Given the description of an element on the screen output the (x, y) to click on. 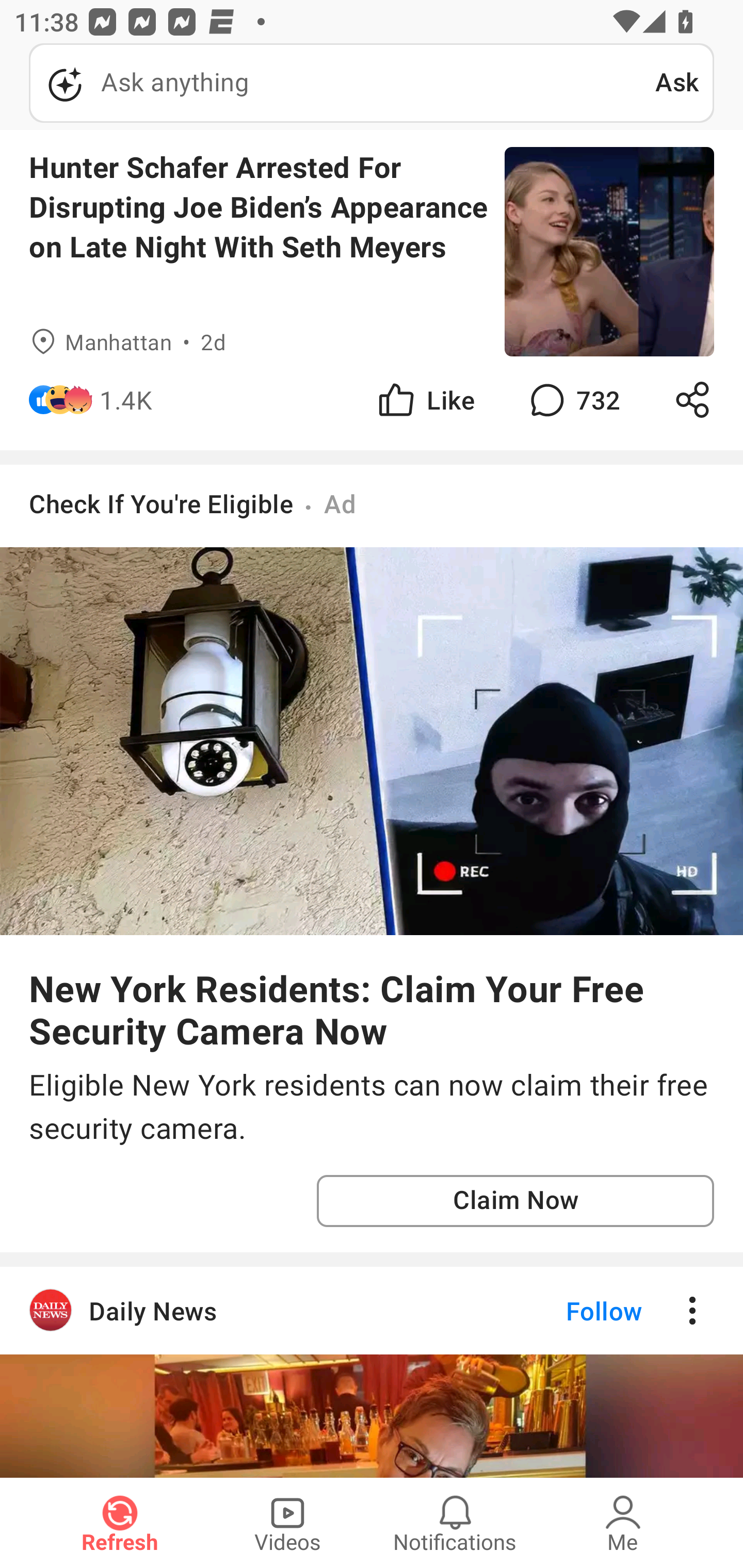
Ask anything (341, 82)
1.4K (125, 399)
Like (425, 399)
732 (572, 399)
Check If You're Eligible (160, 503)
Claim Now (515, 1200)
Daily News Follow (371, 1310)
Follow (569, 1310)
Videos (287, 1522)
Notifications (455, 1522)
Me (622, 1522)
